Given the description of an element on the screen output the (x, y) to click on. 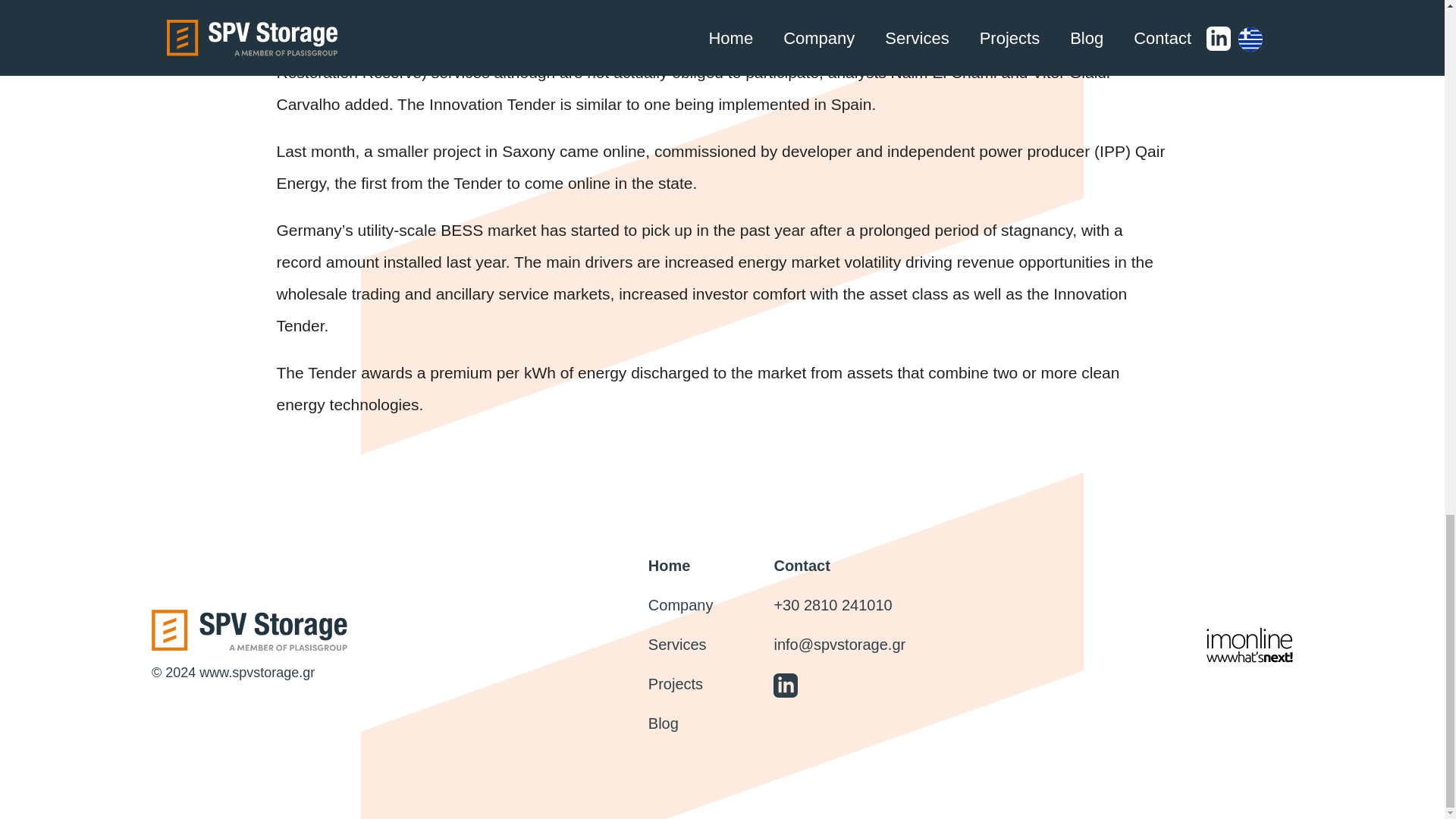
Blog (662, 723)
Company (680, 605)
Projects (675, 683)
Home (668, 565)
Contact (801, 565)
Services (676, 644)
